Given the description of an element on the screen output the (x, y) to click on. 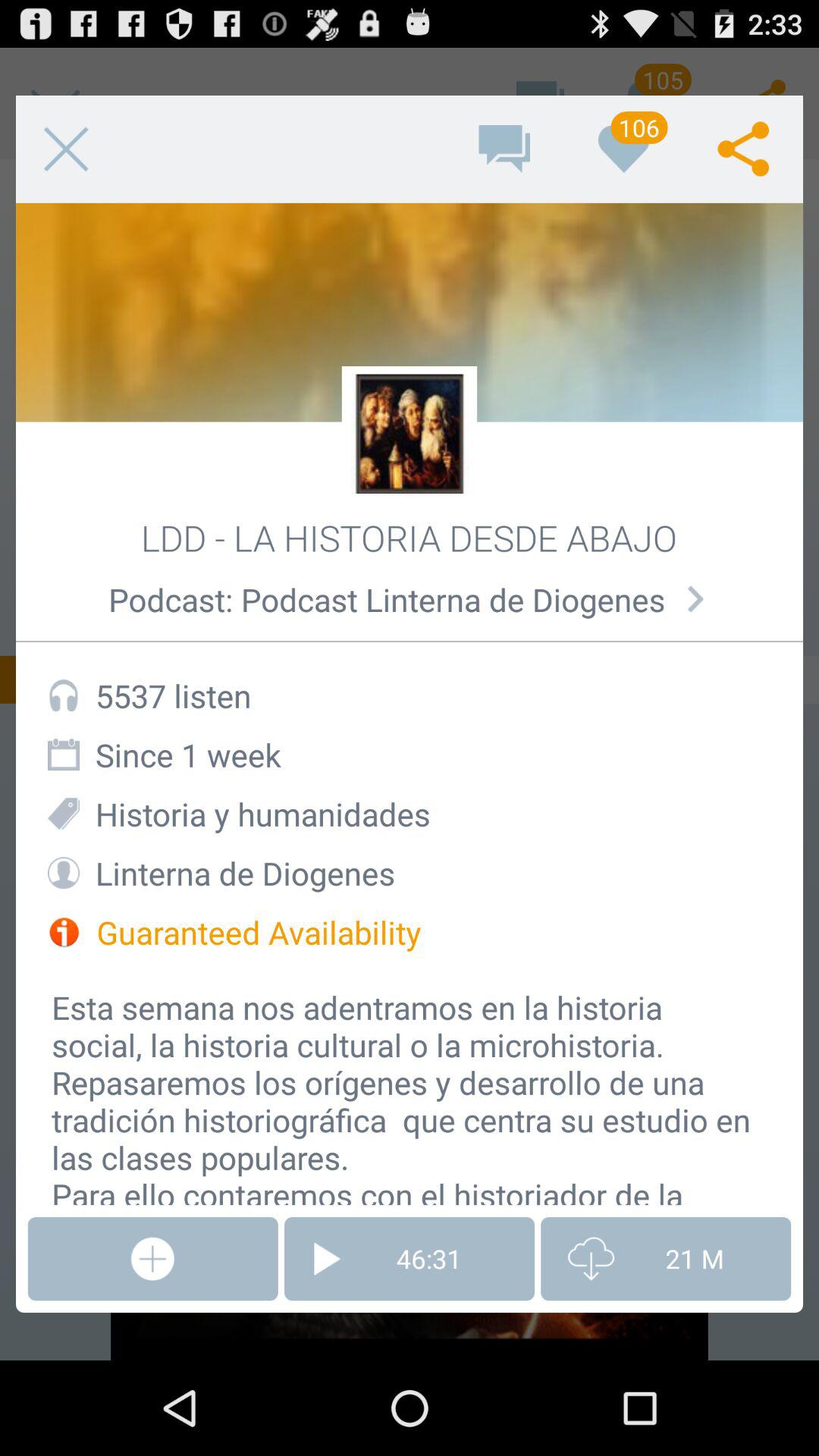
open item below the esta semana nos (665, 1258)
